Given the description of an element on the screen output the (x, y) to click on. 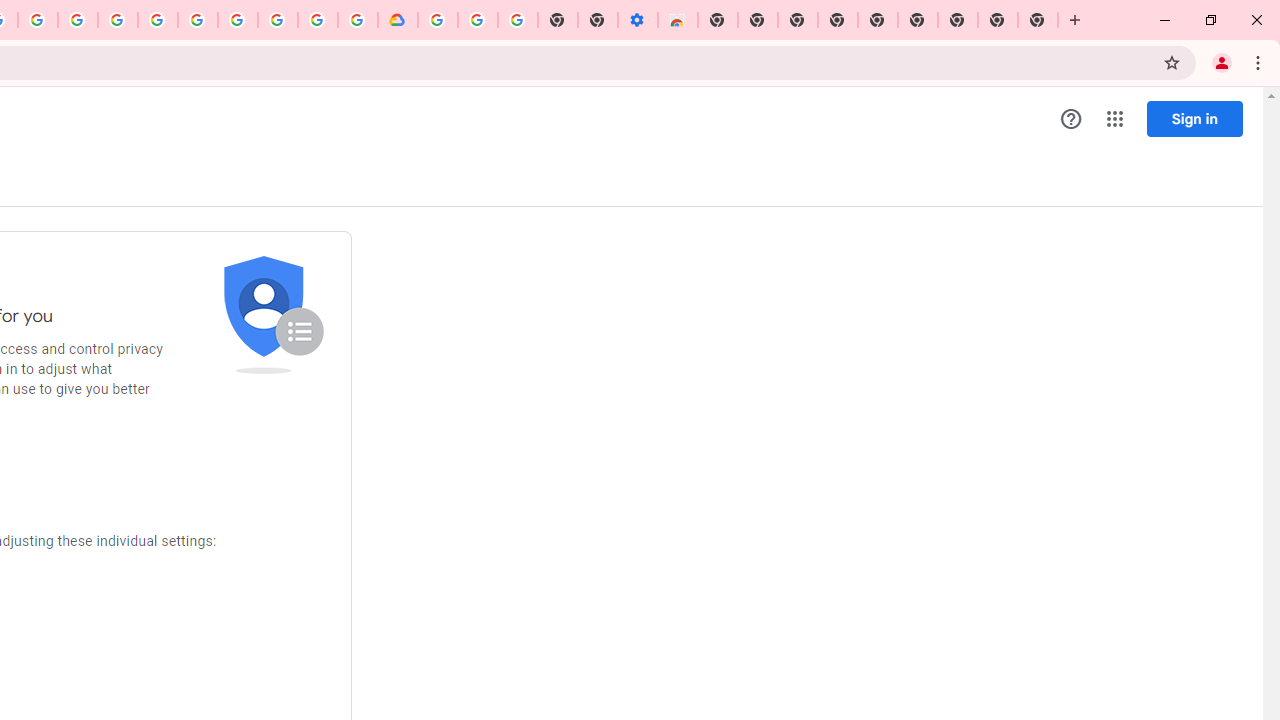
Create your Google Account (317, 20)
Settings - Accessibility (637, 20)
Ad Settings (118, 20)
New Tab (717, 20)
Create your Google Account (37, 20)
Google Account Help (477, 20)
